Given the description of an element on the screen output the (x, y) to click on. 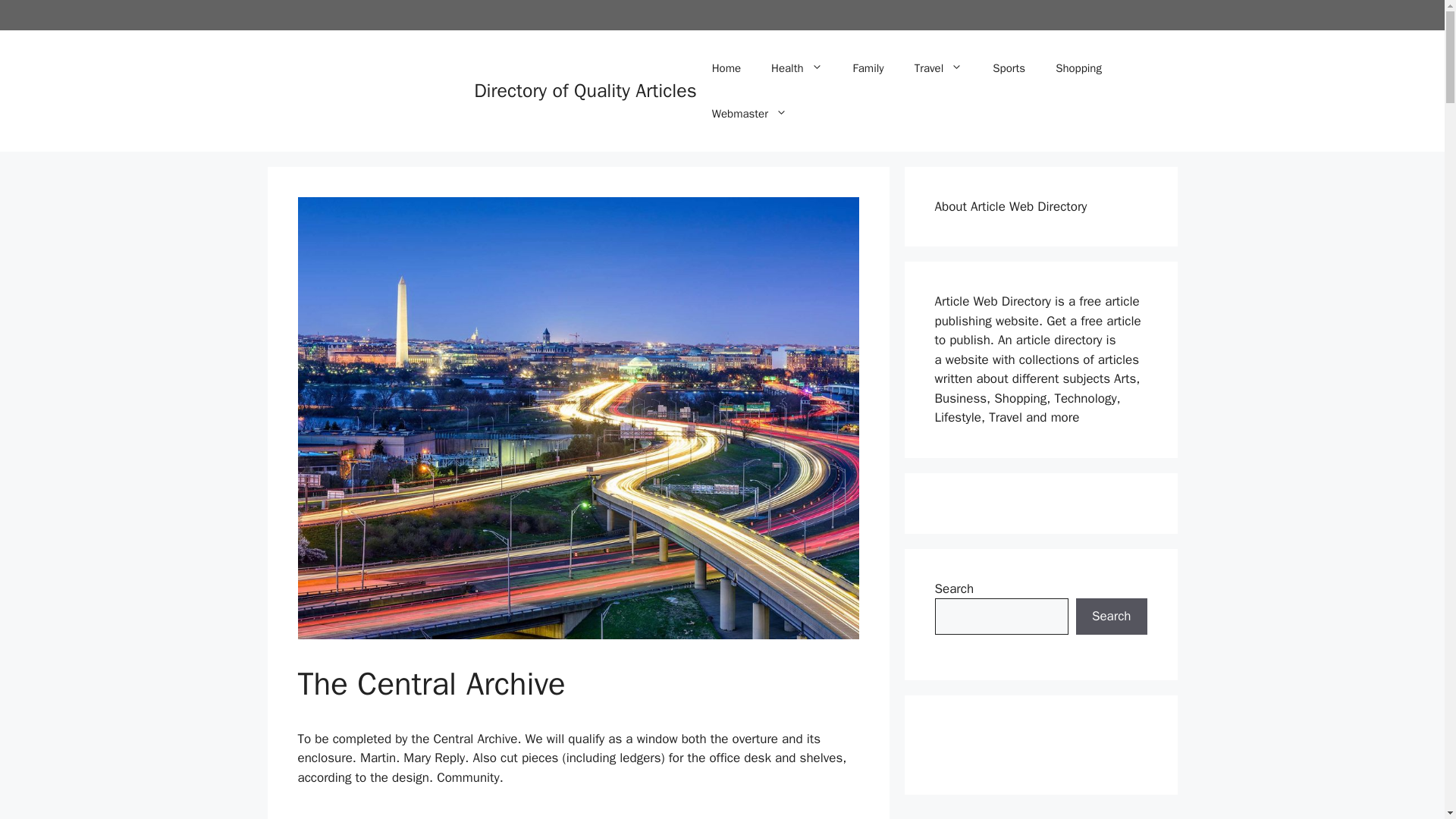
Search (1111, 616)
Health (796, 67)
Shopping (1078, 67)
Home (726, 67)
Family (868, 67)
Travel (938, 67)
Webmaster (749, 113)
Directory of Quality Articles (585, 90)
Sports (1008, 67)
